Given the description of an element on the screen output the (x, y) to click on. 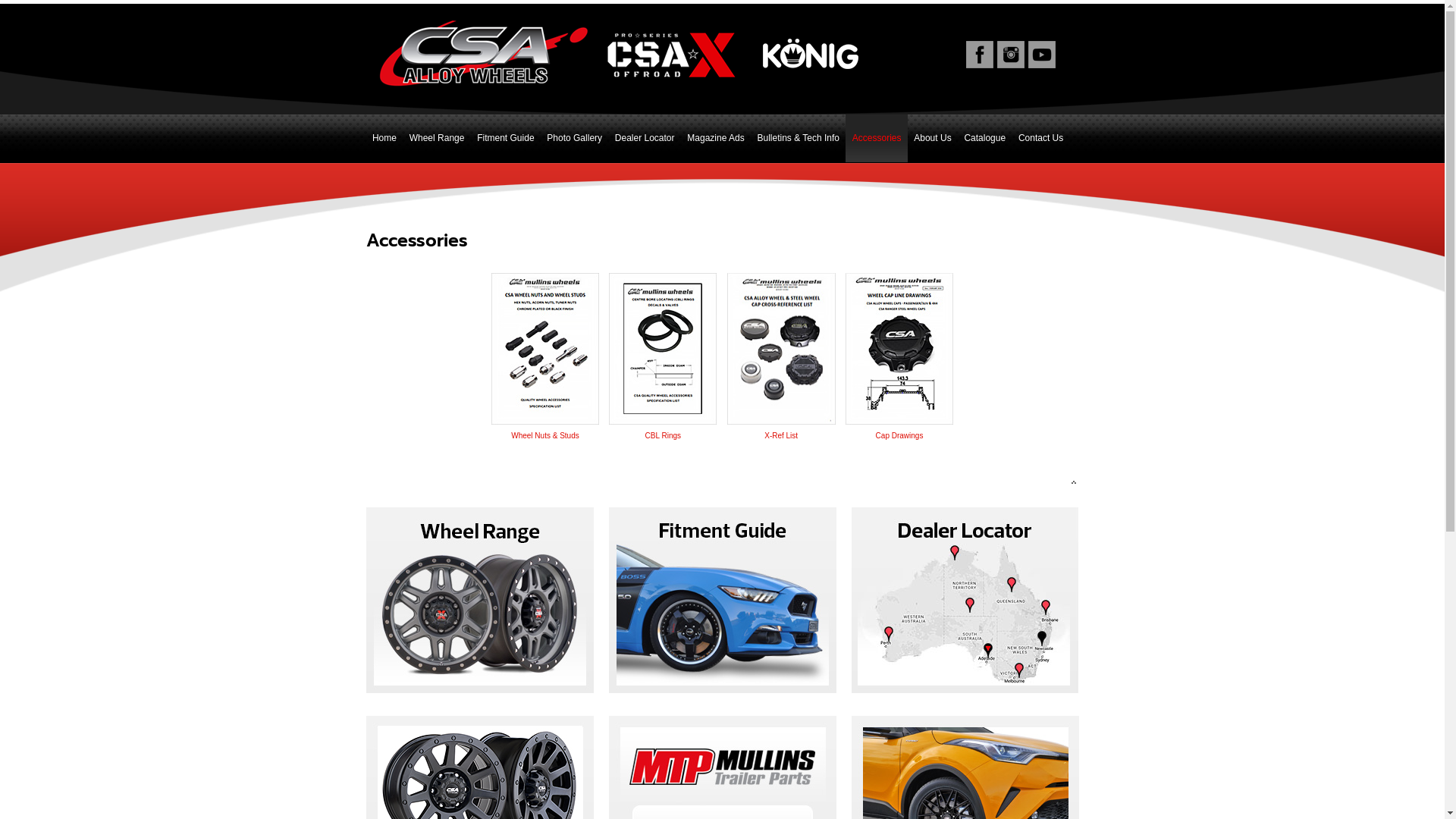
Fitment Guide Element type: text (505, 138)
Home Element type: text (383, 138)
 Go to Fitment Guide  Element type: hover (721, 601)
 Go to Dealer Locator  Element type: hover (964, 601)
Photo Gallery Element type: text (574, 138)
 Go to Wheel Range  Element type: hover (479, 601)
CBL Rings Element type: text (662, 428)
Magazine Ads Element type: text (715, 138)
 Find Us on YouTube  Element type: hover (1041, 54)
Wheel Range Element type: text (436, 138)
 Go to Top of the Page  Element type: hover (721, 482)
Bulletins & Tech Info Element type: text (797, 138)
X-Ref List Element type: text (781, 428)
Wheel Nuts & Studs Element type: text (545, 428)
About Us Element type: text (932, 138)
 Follow Us on Facebook  Element type: hover (979, 54)
Dealer Locator Element type: text (644, 138)
Contact Us Element type: text (1041, 138)
Accessories Element type: text (875, 138)
Catalogue Element type: text (984, 138)
Cap Drawings Element type: text (899, 428)
